Given the description of an element on the screen output the (x, y) to click on. 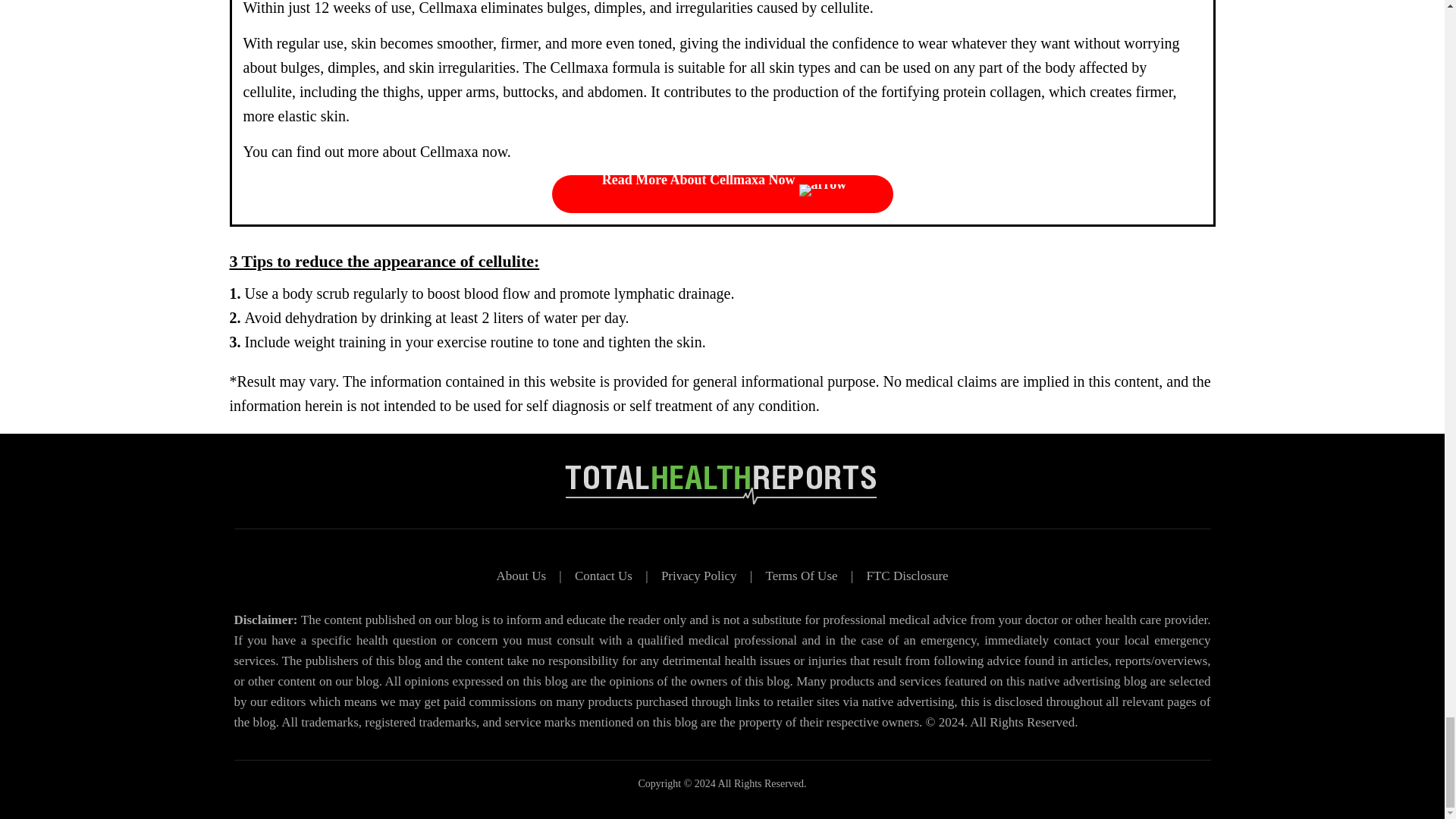
FTC Disclosure (907, 576)
Read More About Cellmaxa Now (722, 193)
About Us (521, 576)
Terms Of Use (801, 576)
Contact Us (603, 576)
Privacy Policy (698, 576)
